Given the description of an element on the screen output the (x, y) to click on. 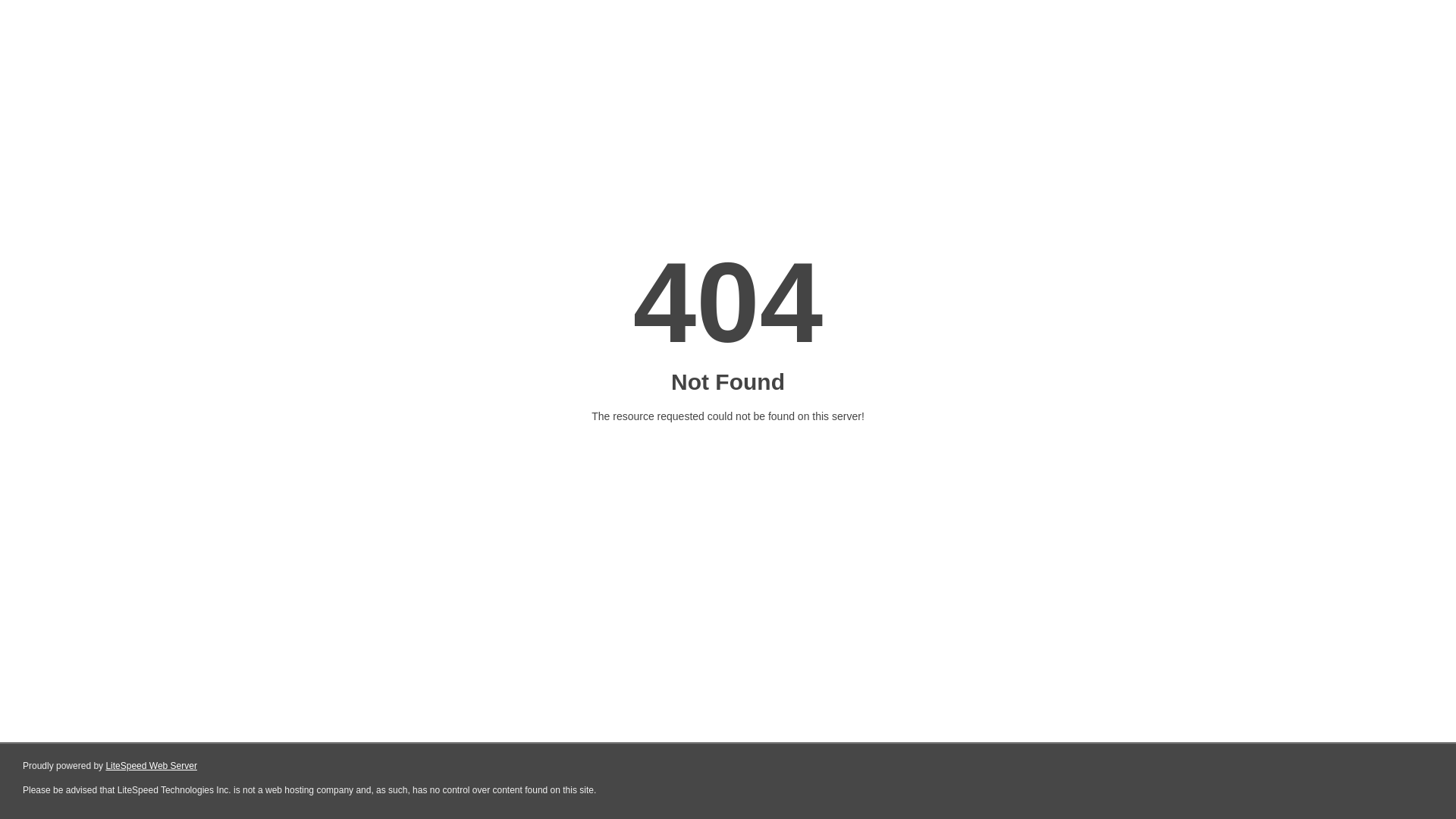
LiteSpeed Web Server Element type: text (151, 765)
